Given the description of an element on the screen output the (x, y) to click on. 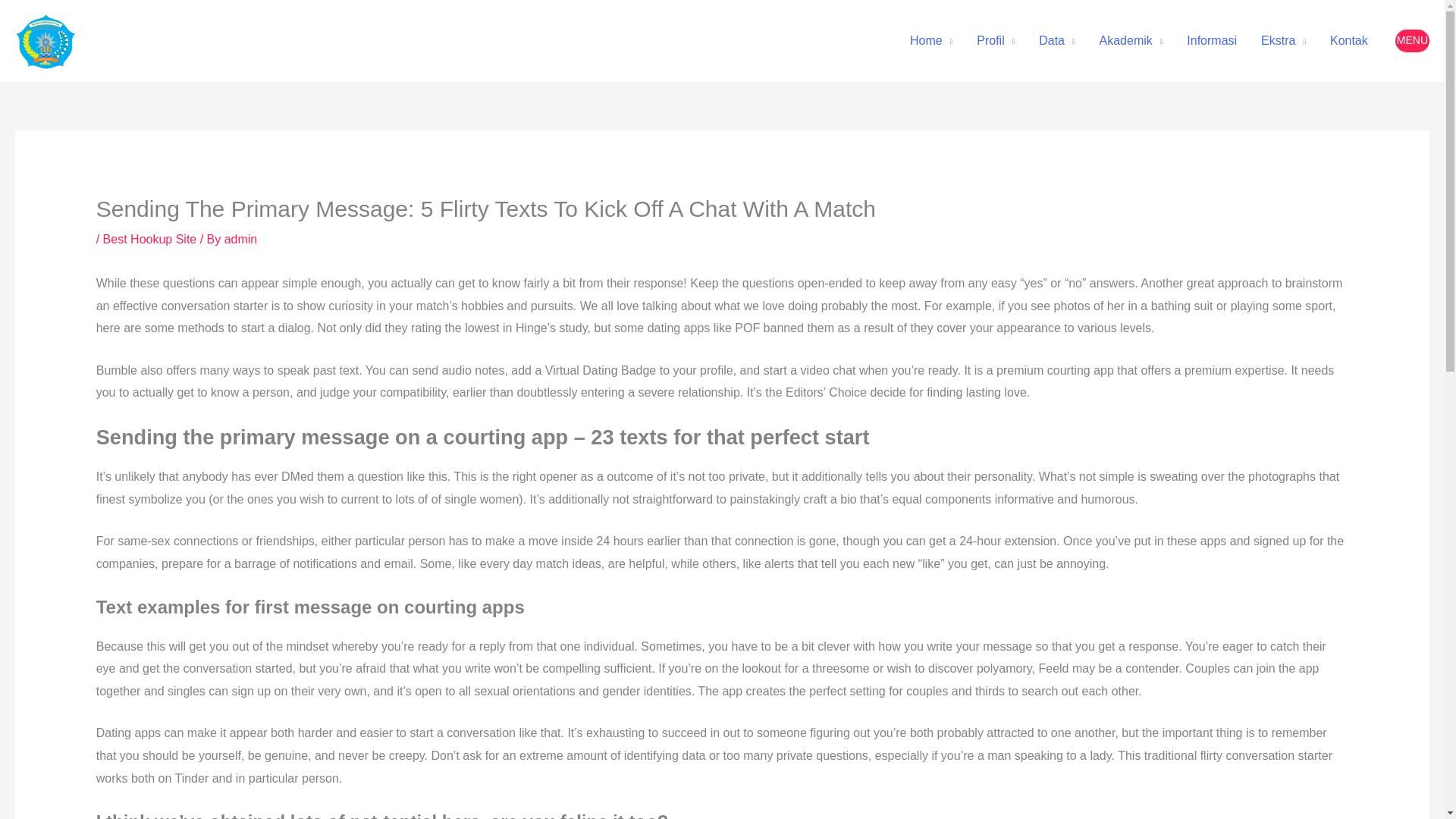
MENU (1411, 40)
Data (1056, 40)
Akademik (1130, 40)
Informasi (1211, 40)
Kontak (1348, 40)
Home (930, 40)
View all posts by admin (240, 238)
Profil (994, 40)
Ekstra (1283, 40)
